Given the description of an element on the screen output the (x, y) to click on. 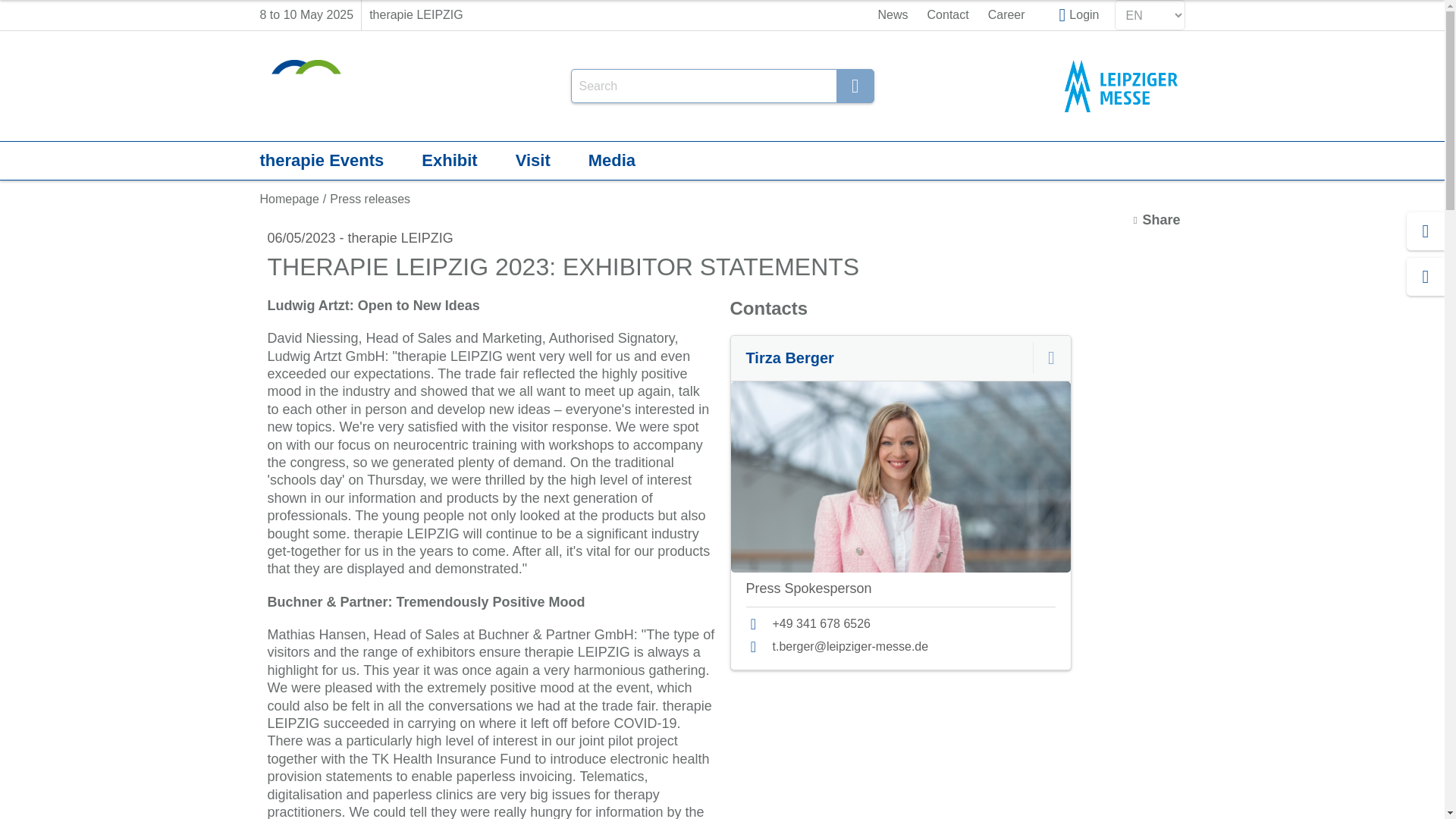
Exhibit (448, 160)
Enter search term (702, 85)
Homepage (288, 199)
Media (611, 160)
Career (1005, 15)
Press releases (370, 199)
Contact (948, 15)
therapie Events (321, 160)
News (892, 15)
Search (854, 85)
Visit (532, 160)
Login (1079, 15)
